Given the description of an element on the screen output the (x, y) to click on. 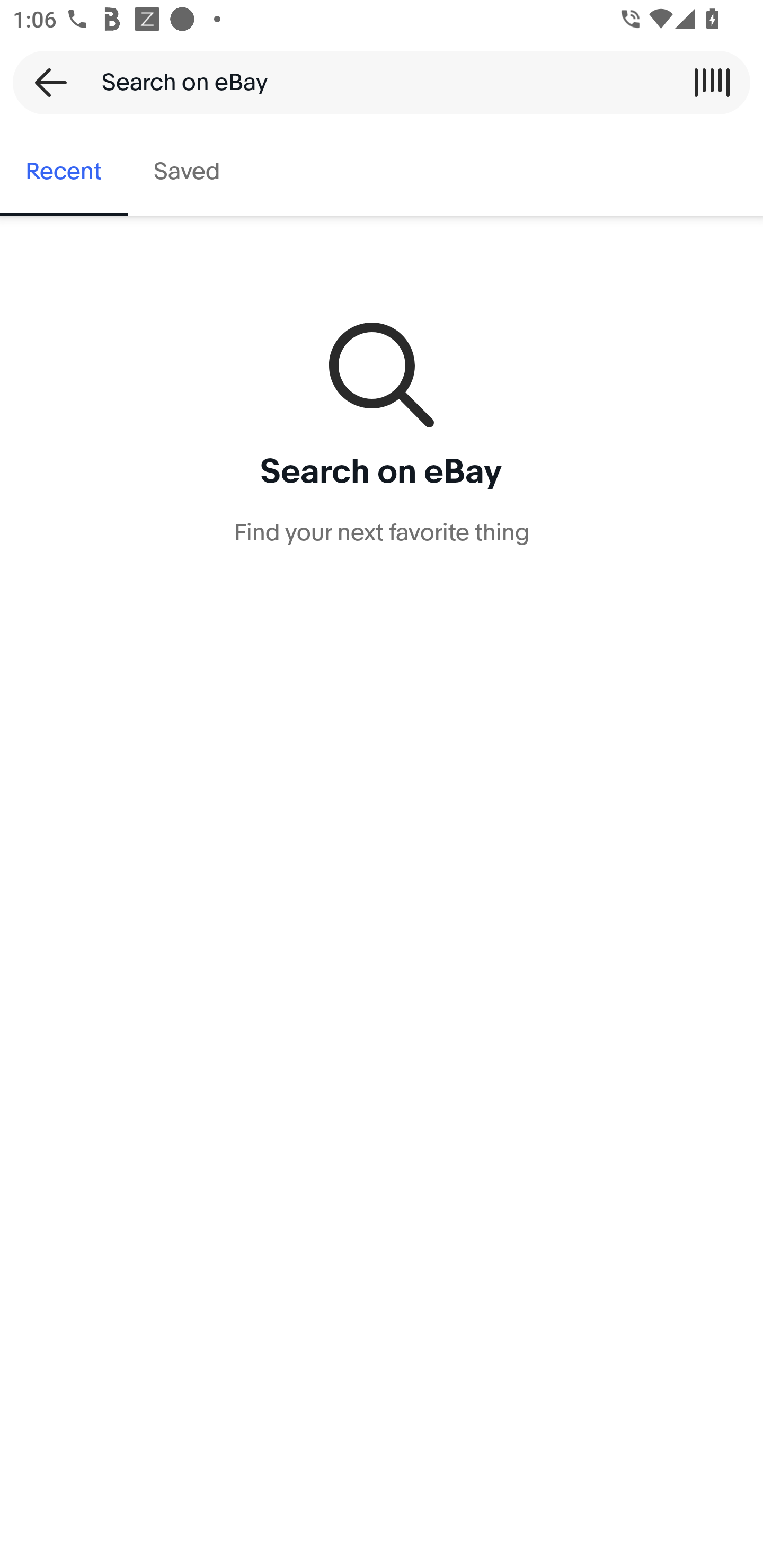
Back (44, 82)
Scan a barcode (711, 82)
Search on eBay (375, 82)
Saved, tab 2 of 2 Saved (186, 171)
